Given the description of an element on the screen output the (x, y) to click on. 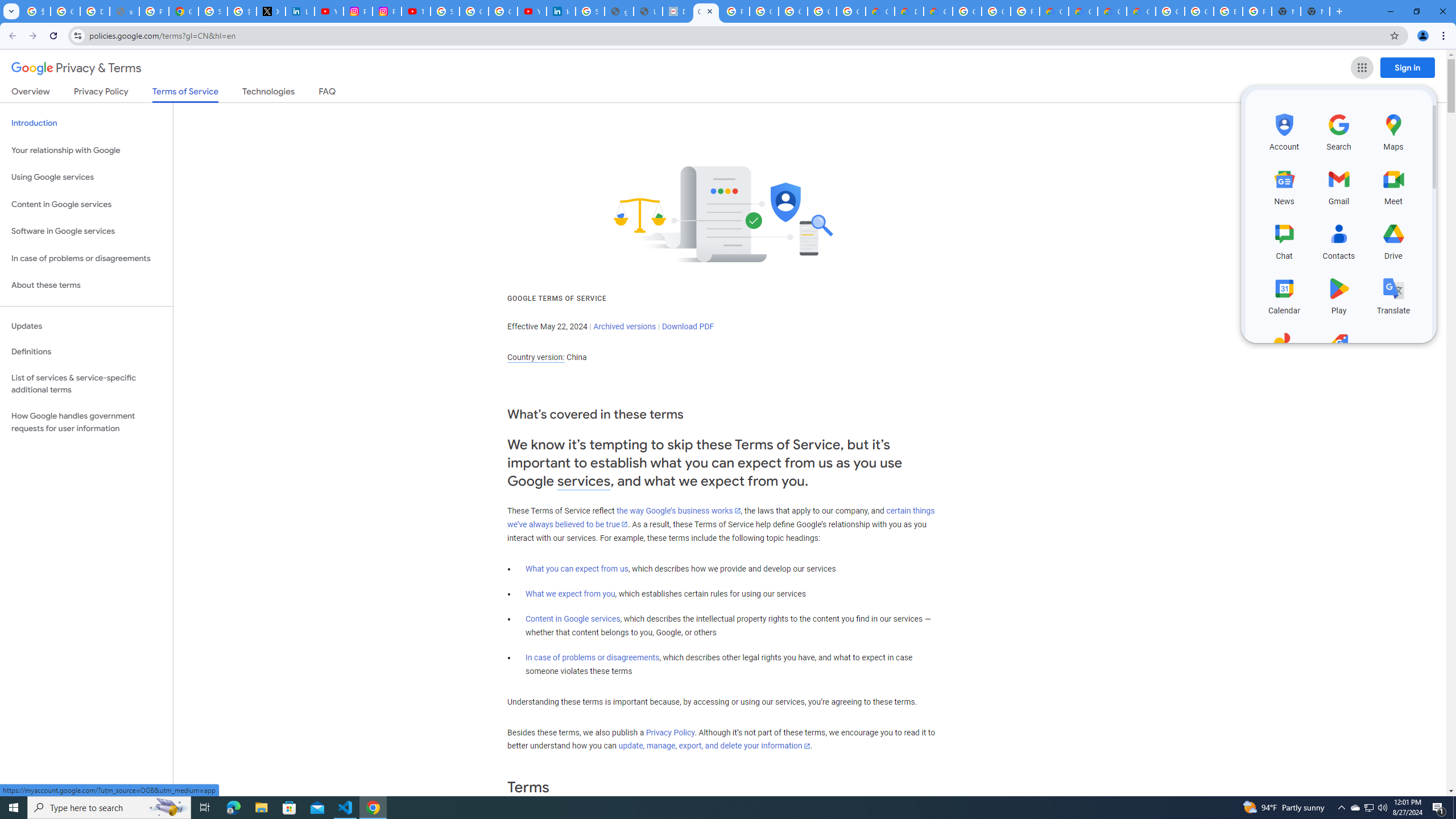
Technologies (268, 93)
Google Cloud Platform (967, 11)
Google Cloud Platform (996, 11)
Definitions (86, 352)
What you can expect from us (576, 568)
Forward (32, 35)
System (6, 6)
Content in Google services (572, 618)
Archived versions (624, 326)
How Google handles government requests for user information (86, 422)
